Given the description of an element on the screen output the (x, y) to click on. 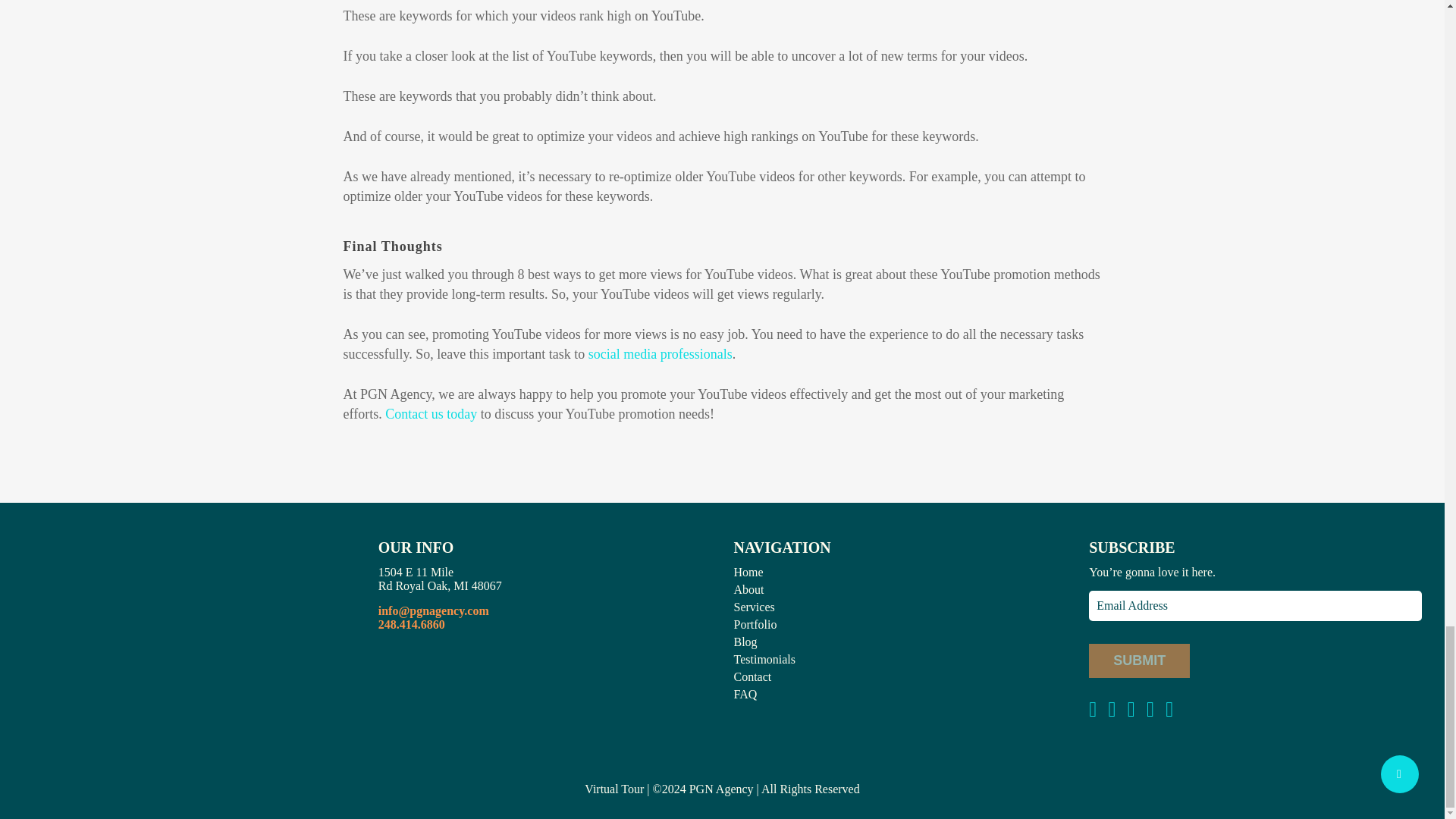
FAQ (745, 694)
Portfolio (755, 624)
Contact (752, 676)
Home (747, 571)
social media professionals (660, 353)
Testimonials (764, 658)
Blog (745, 641)
Services (753, 606)
About (748, 589)
248.414.6860 (411, 624)
SUBMIT (1139, 660)
Contact us today (431, 413)
